Given the description of an element on the screen output the (x, y) to click on. 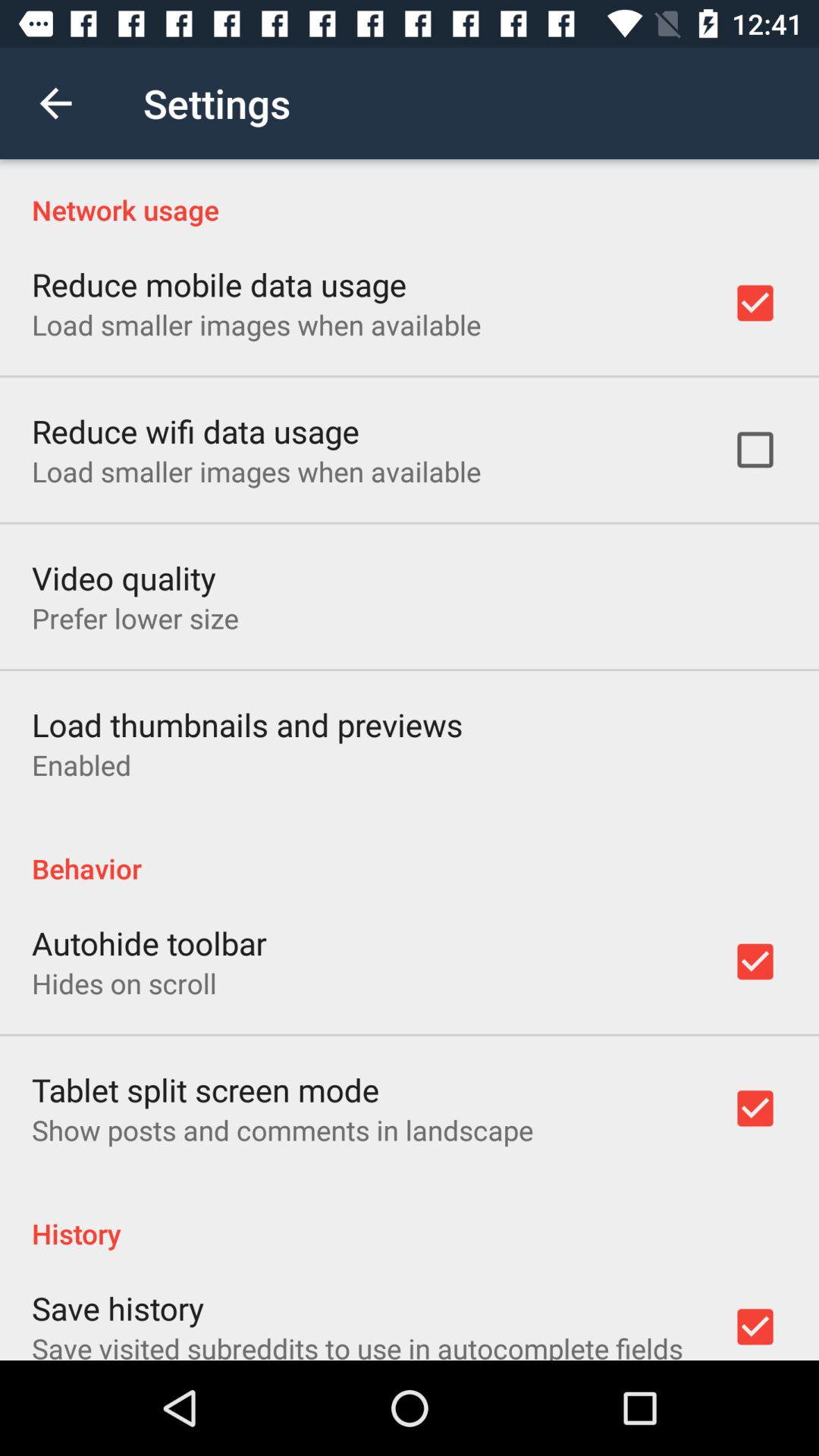
tap the item above the load thumbnails and item (134, 618)
